Given the description of an element on the screen output the (x, y) to click on. 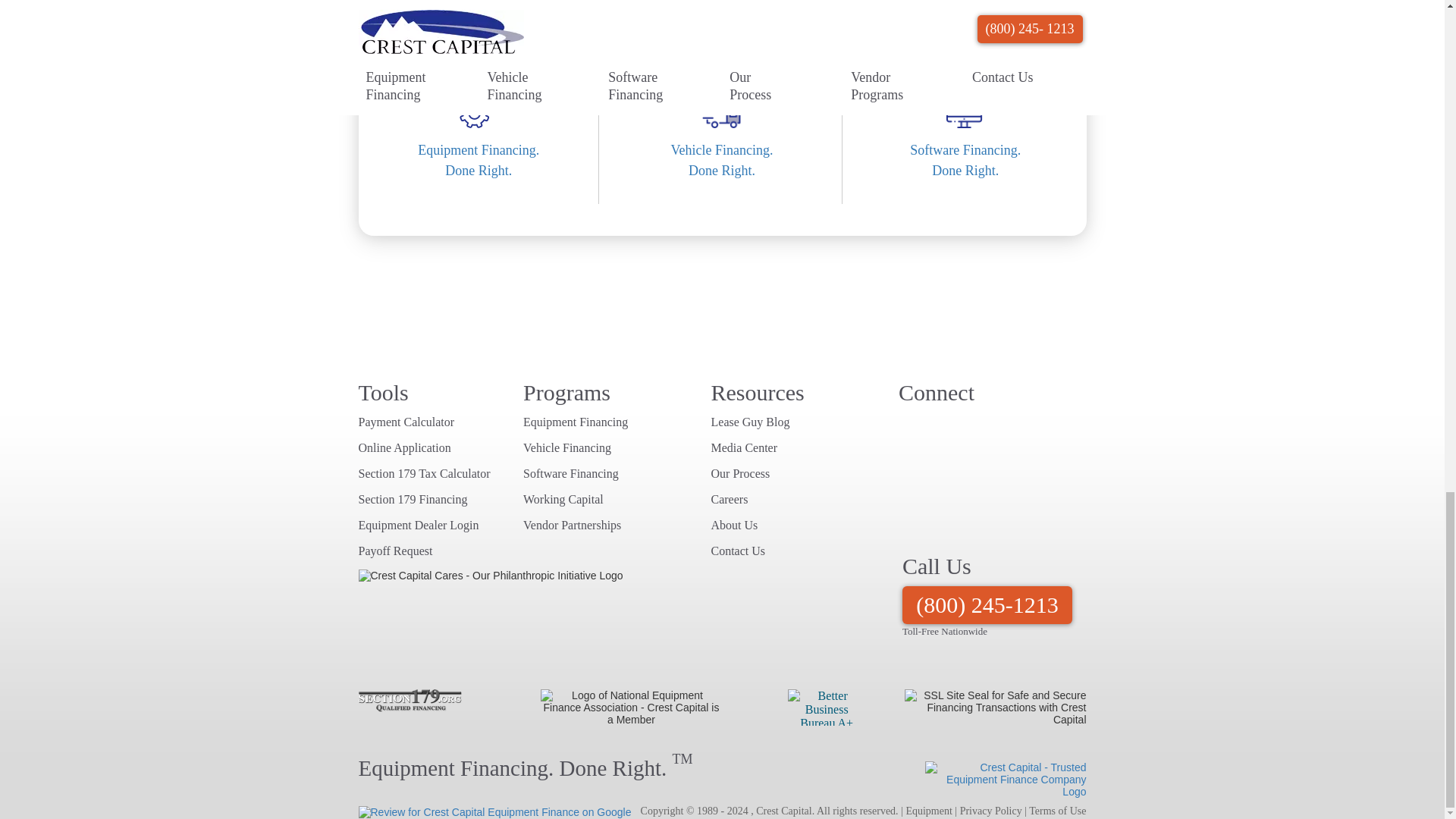
Crest Capital Facebook (480, 171)
Lease Guy Blog (1000, 425)
Crest Capital YouTube (912, 425)
Crest Capital Twitter (971, 425)
Review for Crest Capital Equipment Finance on Google (941, 425)
Crest Capital Linkedin (494, 811)
Crest Capital Ratings Review (1030, 425)
